Given the description of an element on the screen output the (x, y) to click on. 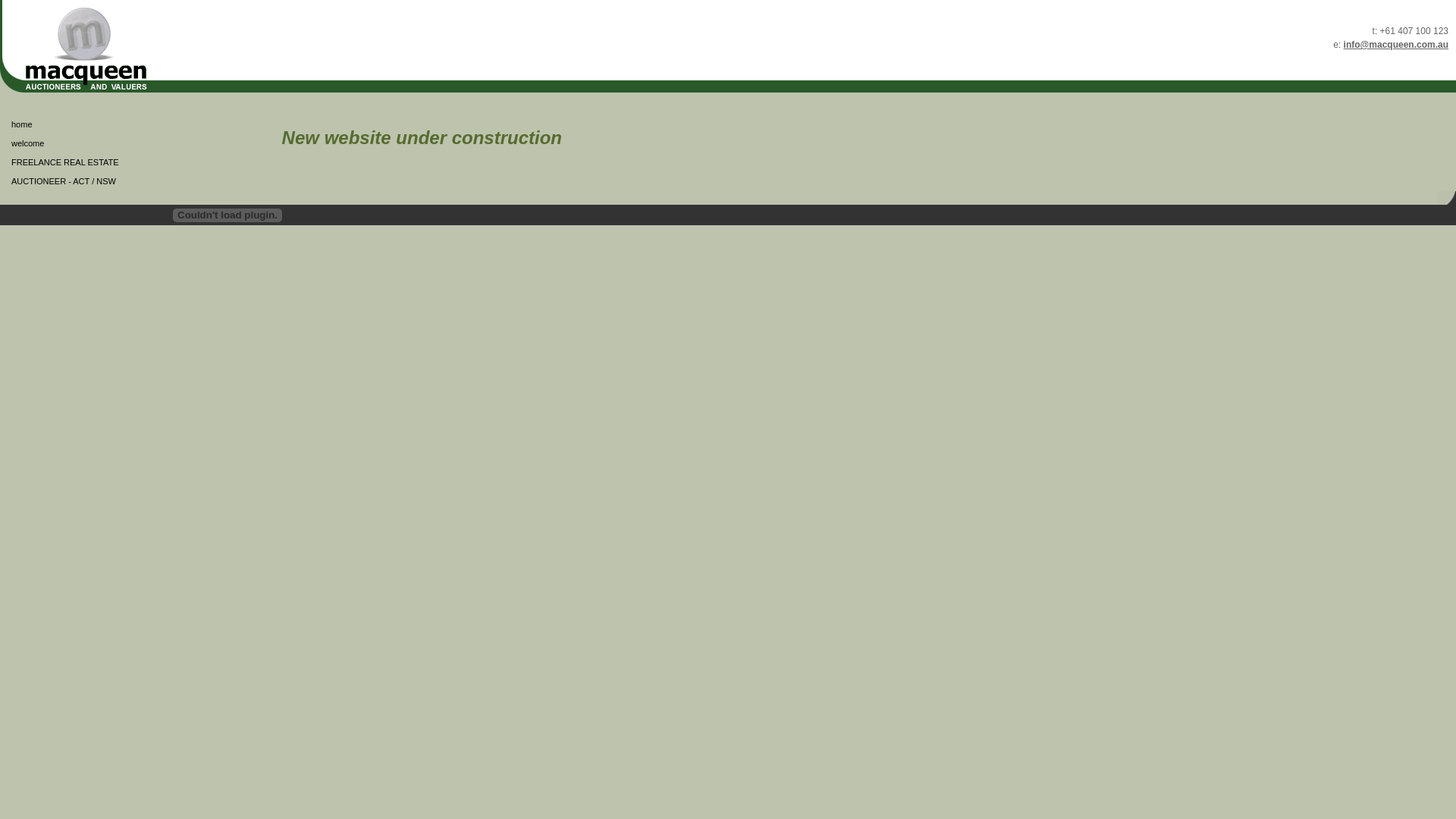
home Element type: text (68, 124)
info@macqueen.com.au Element type: text (1395, 44)
welcome Element type: text (68, 143)
FREELANCE REAL ESTATE AUCTIONEER - ACT / NSW Element type: text (68, 172)
